Given the description of an element on the screen output the (x, y) to click on. 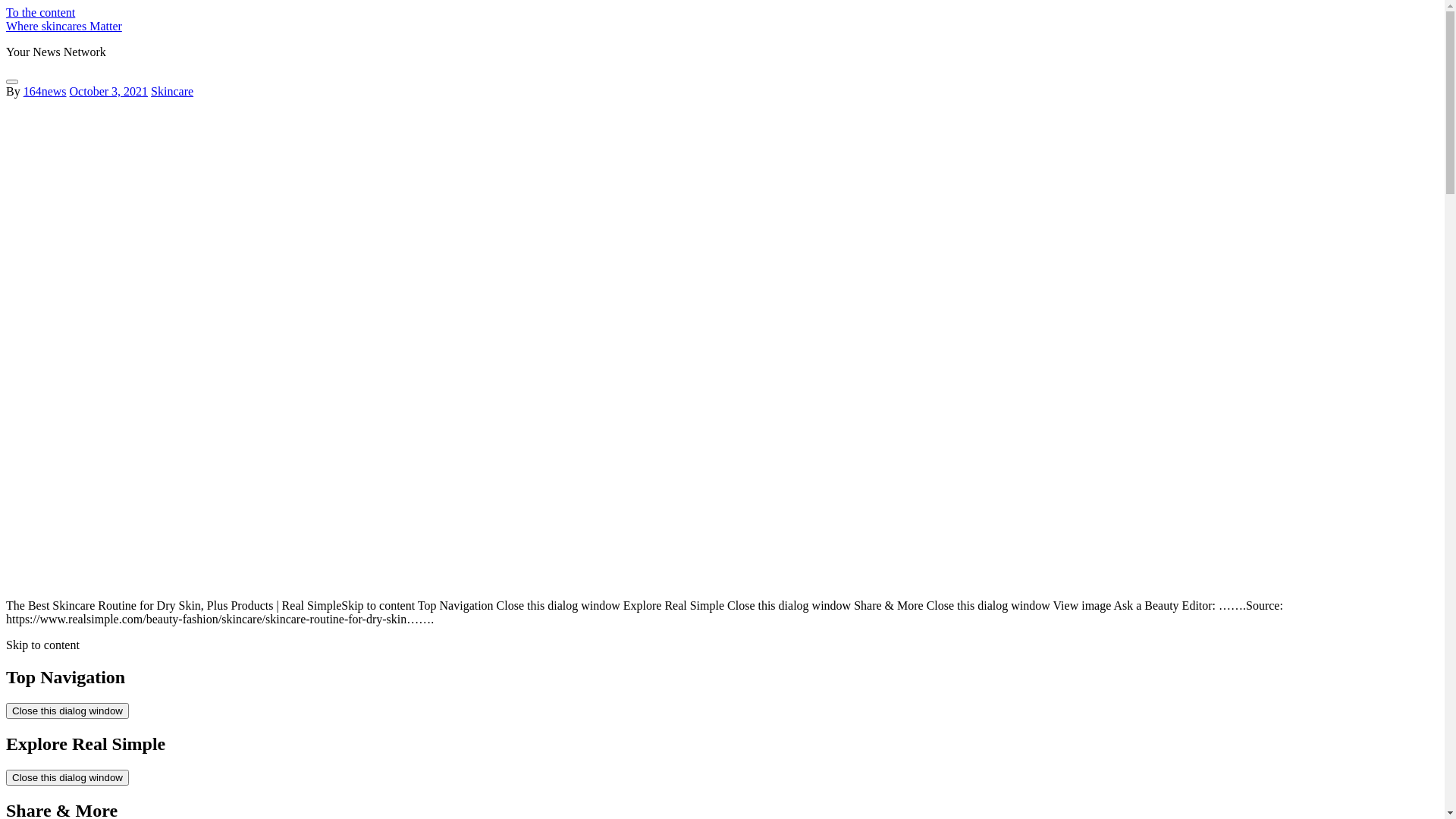
Close this dialog window Element type: text (67, 777)
Close this dialog window Element type: text (67, 710)
To the content Element type: text (40, 12)
October 3, 2021 Element type: text (108, 90)
Skincare Element type: text (171, 90)
Where skincares Matter Element type: text (64, 25)
164news Element type: text (44, 90)
